Given the description of an element on the screen output the (x, y) to click on. 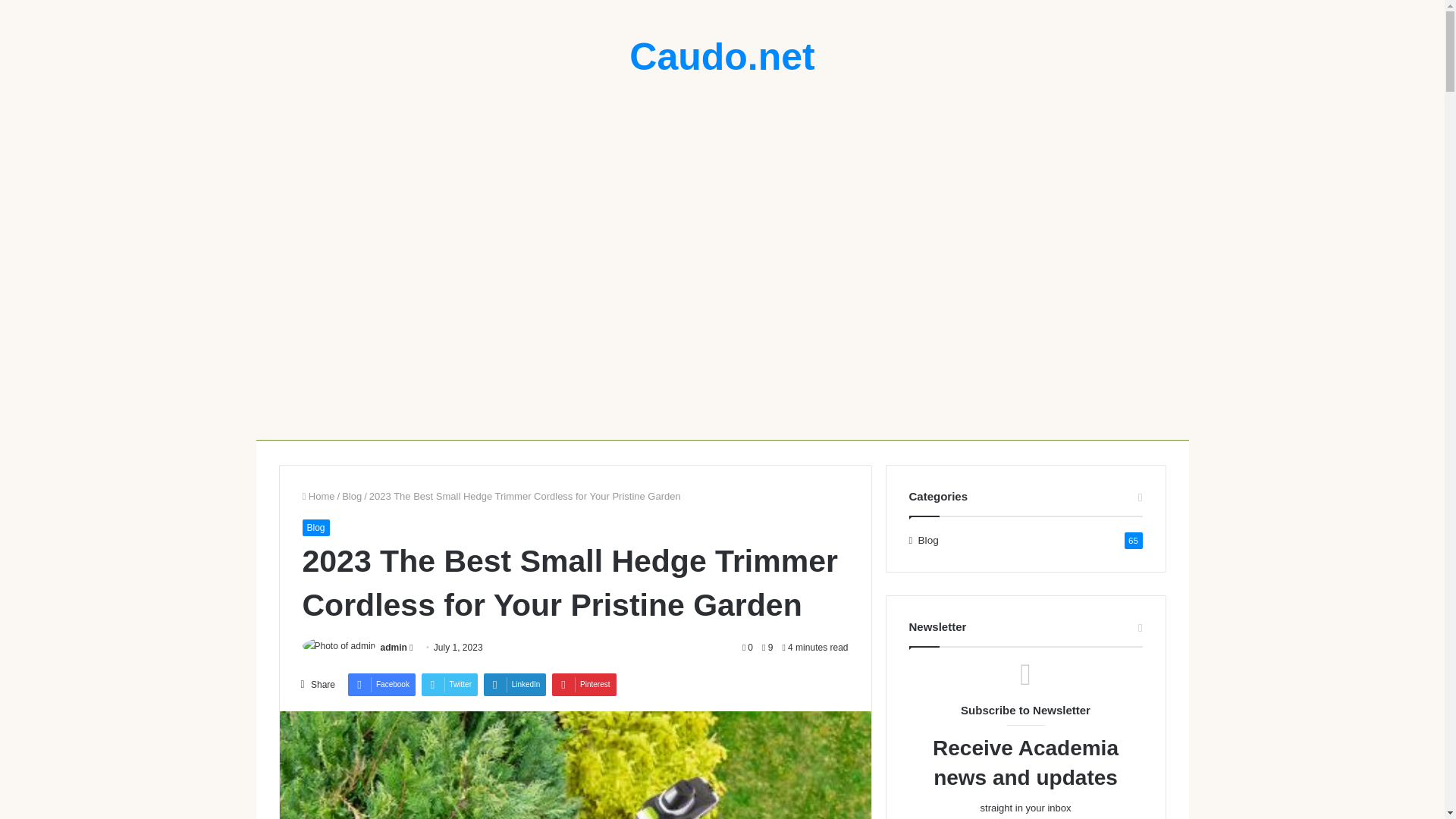
Pinterest (583, 684)
Blog (315, 527)
Caudo.net (720, 56)
Pinterest (583, 684)
Blog (351, 496)
Home (317, 496)
Caudo.net (720, 56)
Twitter (449, 684)
admin (393, 647)
Twitter (449, 684)
